Given the description of an element on the screen output the (x, y) to click on. 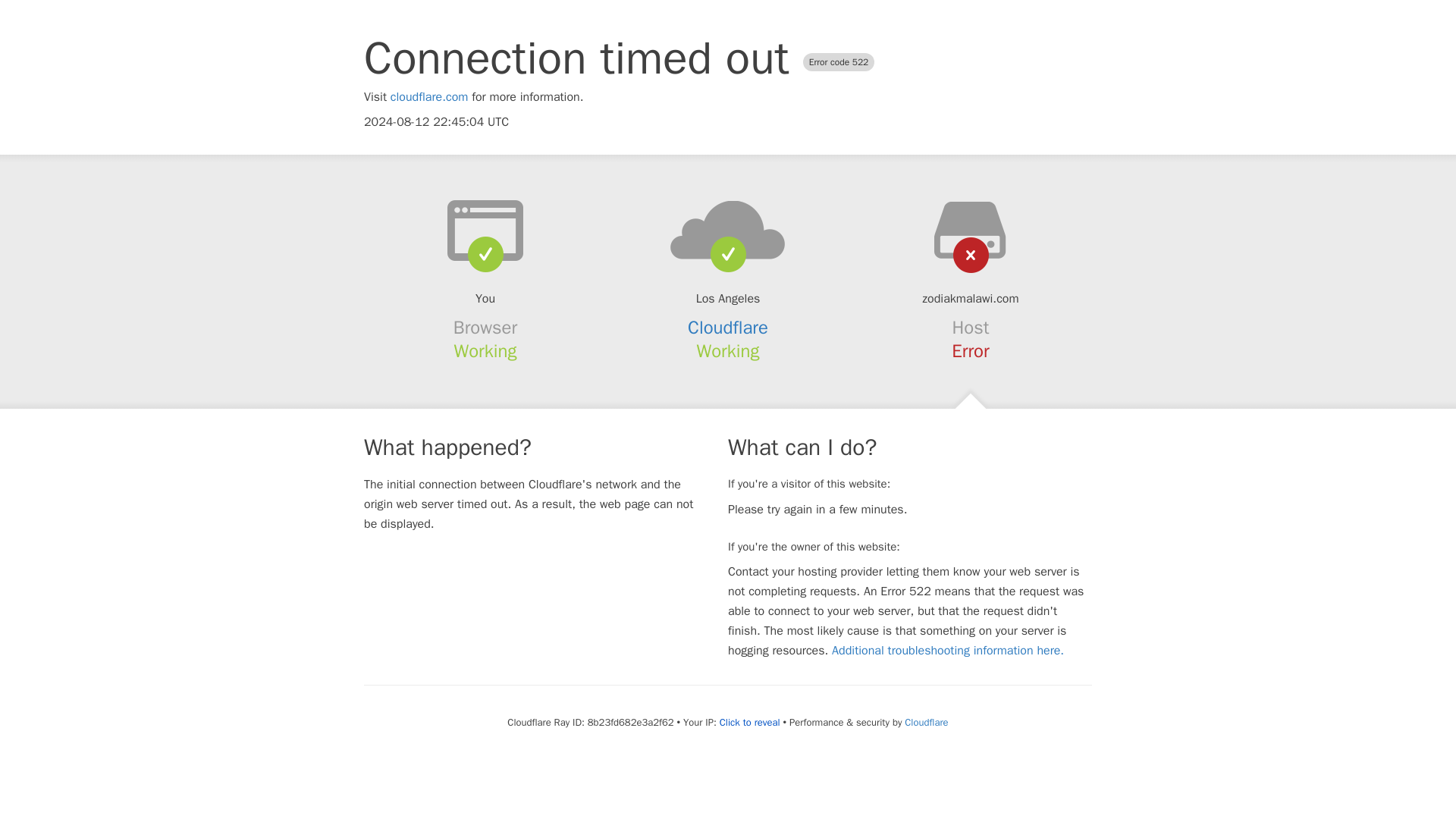
Additional troubleshooting information here. (947, 650)
cloudflare.com (429, 96)
Click to reveal (749, 722)
Cloudflare (727, 327)
Cloudflare (925, 721)
